Given the description of an element on the screen output the (x, y) to click on. 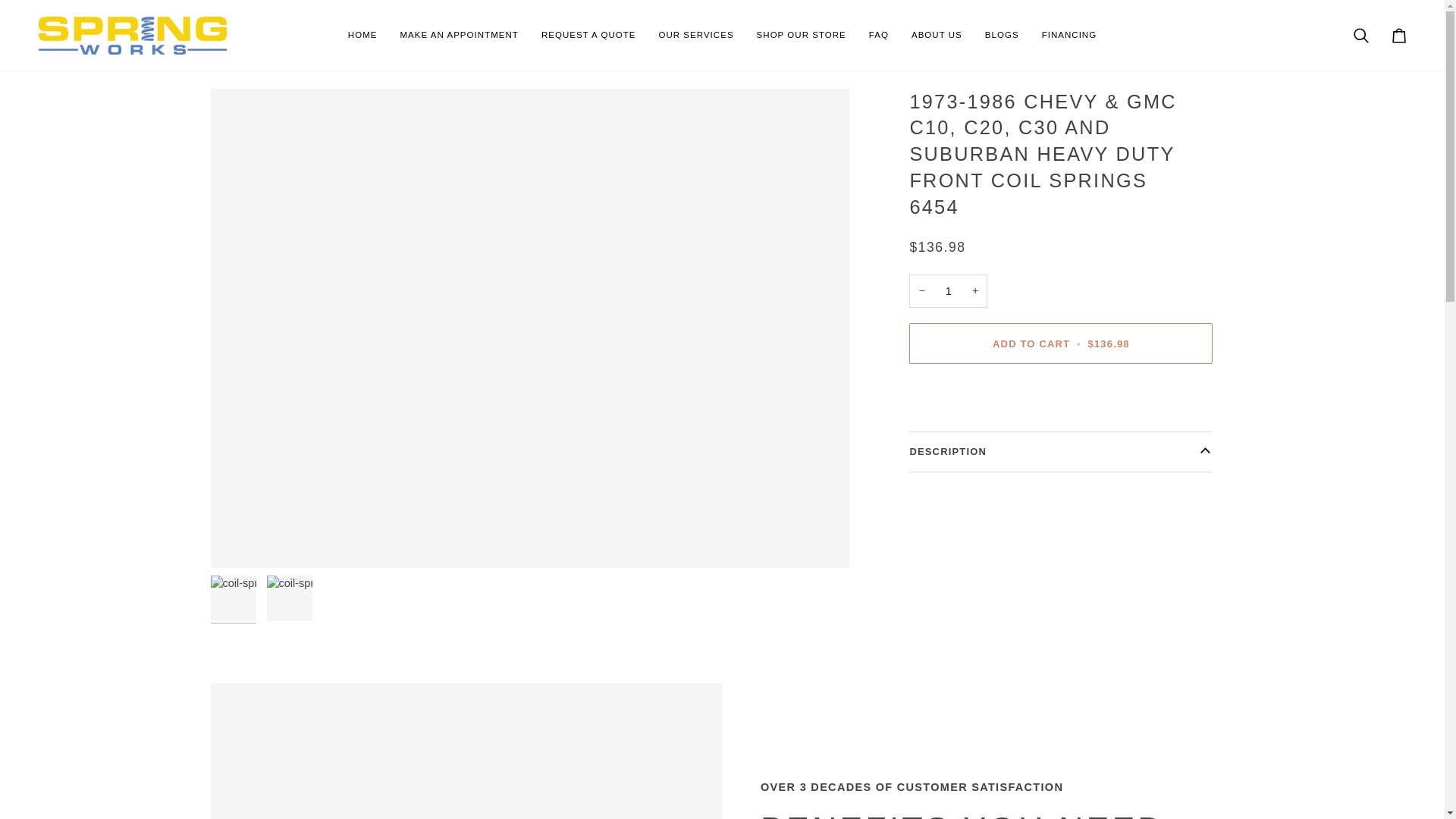
REQUEST A QUOTE (588, 35)
OUR SERVICES (695, 35)
SHOP OUR STORE (801, 35)
1 (947, 291)
MAKE AN APPOINTMENT (458, 35)
